Given the description of an element on the screen output the (x, y) to click on. 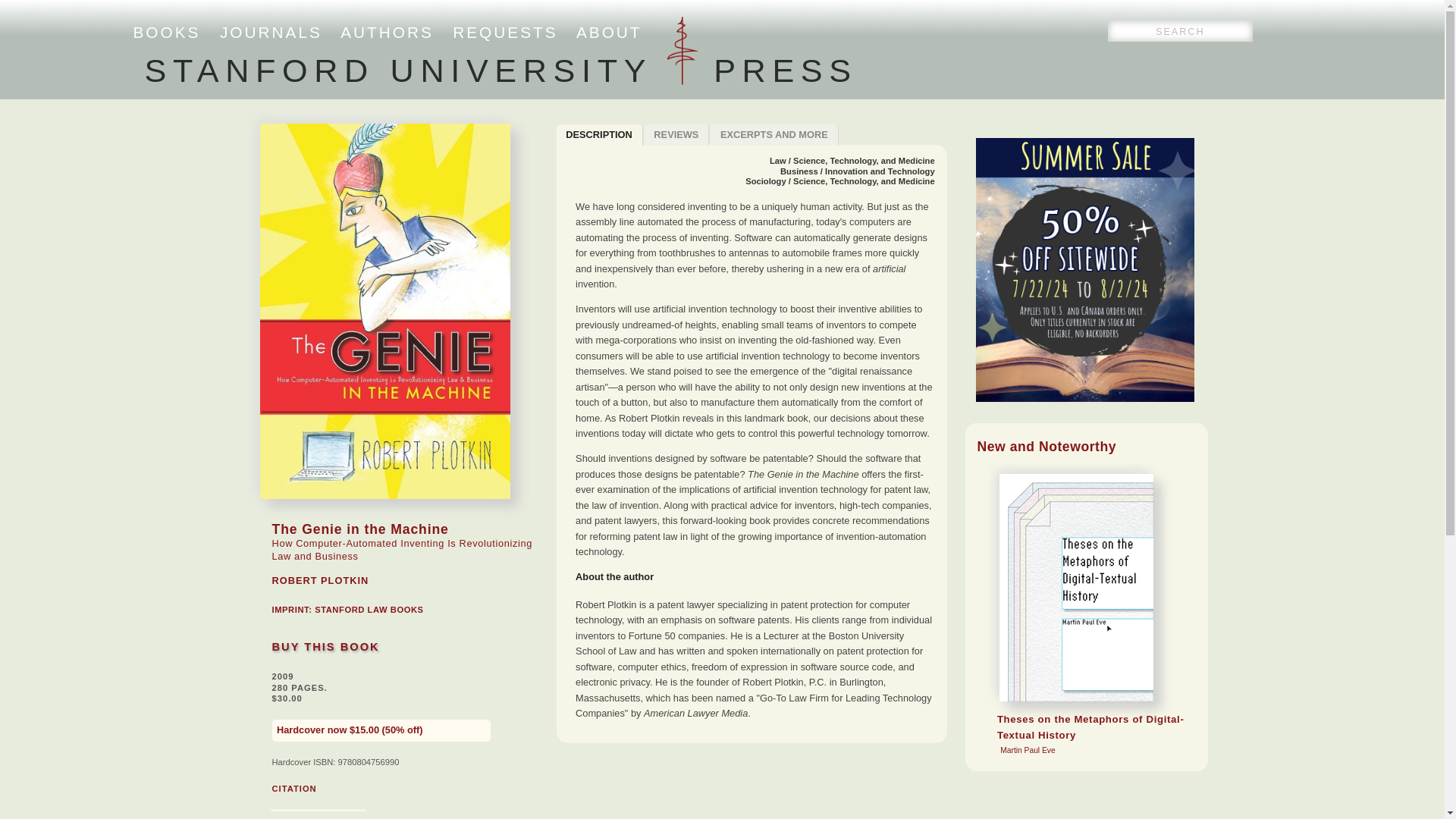
ABOUT (774, 134)
JOURNALS (609, 31)
DESCRIPTION (270, 31)
BUY THIS BOOK (599, 134)
REVIEWS (324, 646)
STANFORD LAW BOOKS (677, 134)
AUTHORS (368, 609)
REQUESTS (386, 31)
CITATION (504, 31)
BOOKS (292, 788)
STANFORD UNIVERSITY PRESS (166, 31)
